Given the description of an element on the screen output the (x, y) to click on. 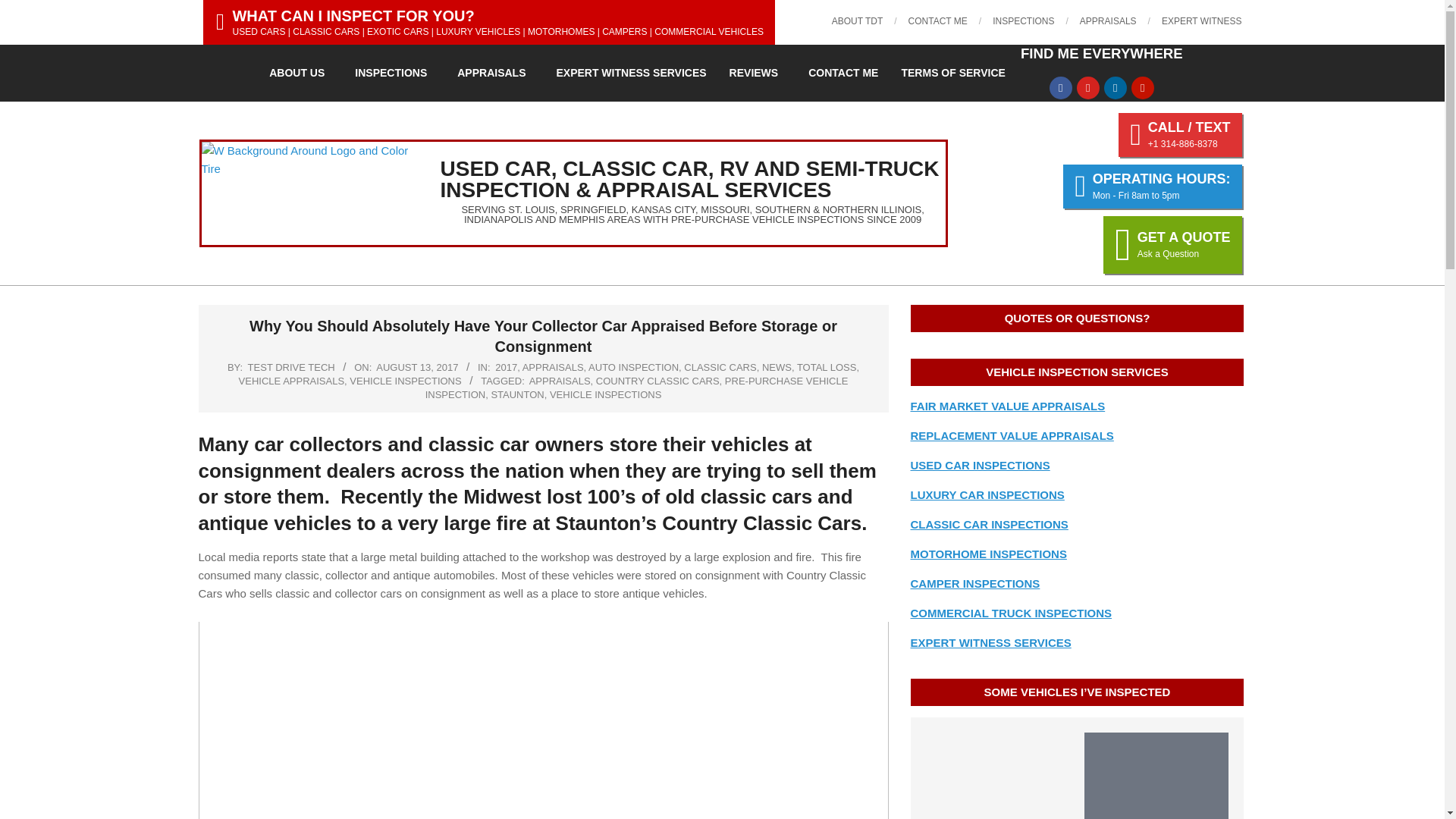
2017 (505, 367)
ABOUT TDT (857, 20)
CONTACT ME (938, 20)
ABOUT US (300, 72)
APPRAISALS (1108, 20)
CONTACT ME (842, 72)
Posts by Test Drive Tech (290, 367)
INSPECTIONS (1023, 20)
REVIEWS (757, 72)
EXPERT WITNESS SERVICES (630, 72)
